Given the description of an element on the screen output the (x, y) to click on. 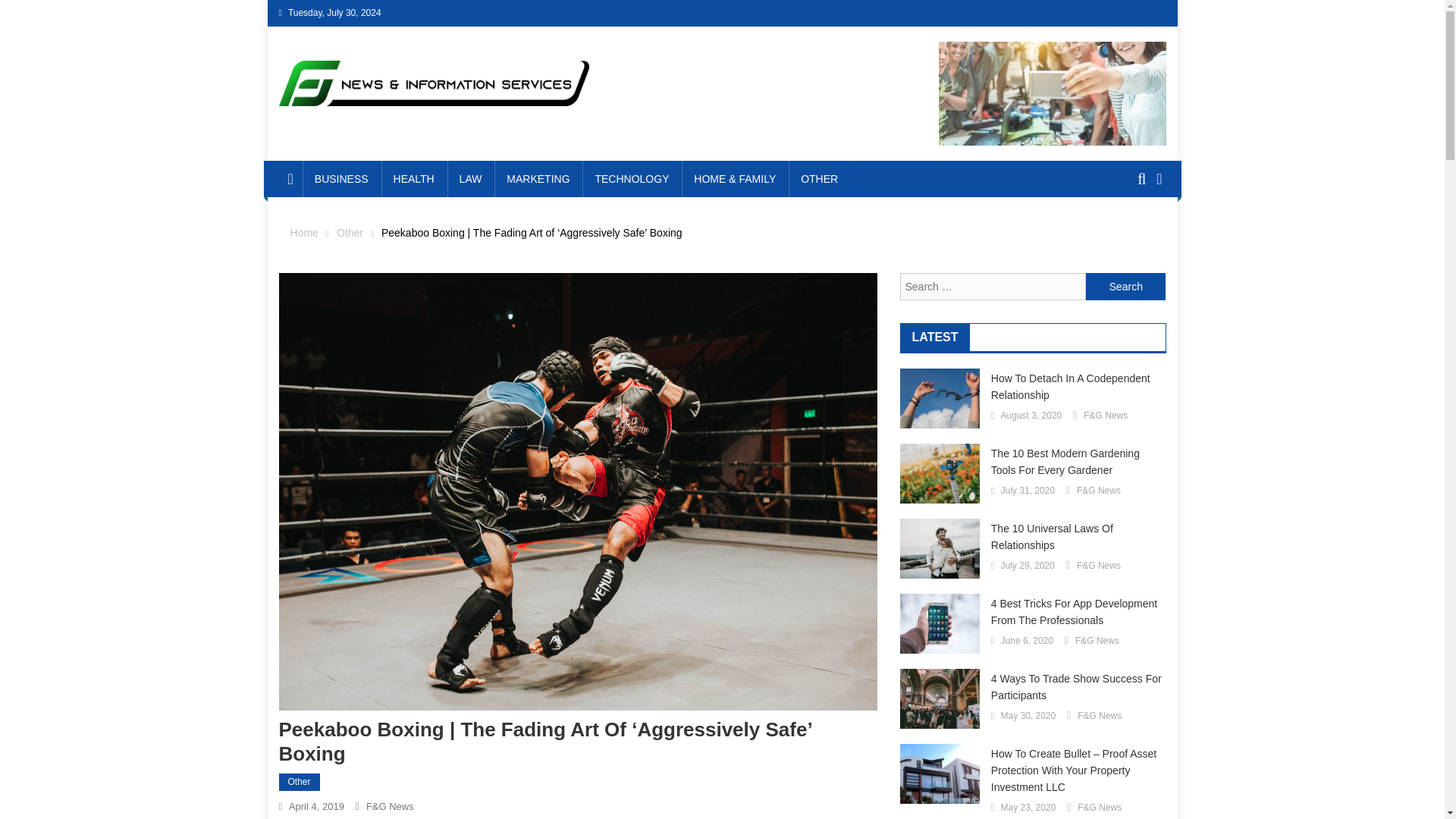
MARKETING (537, 178)
Other (349, 232)
OTHER (819, 178)
Other (299, 782)
Search (1133, 234)
TECHNOLOGY (631, 178)
Home (303, 232)
Search (1126, 286)
LAW (470, 178)
BUSINESS (341, 178)
April 4, 2019 (315, 806)
Search (1126, 286)
Search (1126, 286)
HEALTH (413, 178)
